Given the description of an element on the screen output the (x, y) to click on. 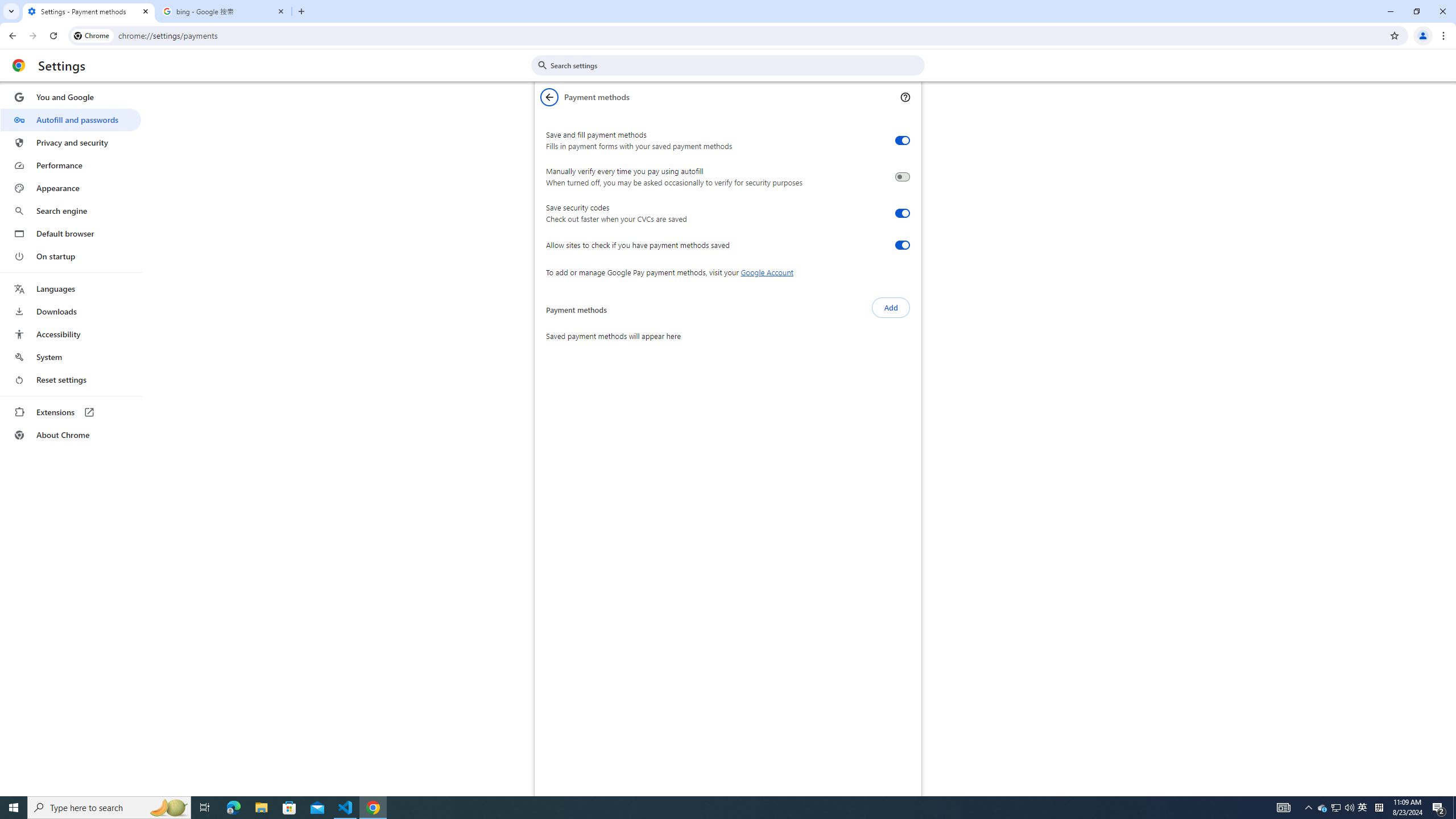
Settings - Payment methods (88, 11)
Privacy and security (70, 142)
Extensions (70, 412)
You and Google (70, 96)
Search settings (735, 65)
Accessibility (70, 333)
Languages (70, 288)
Reset settings (70, 379)
